Given the description of an element on the screen output the (x, y) to click on. 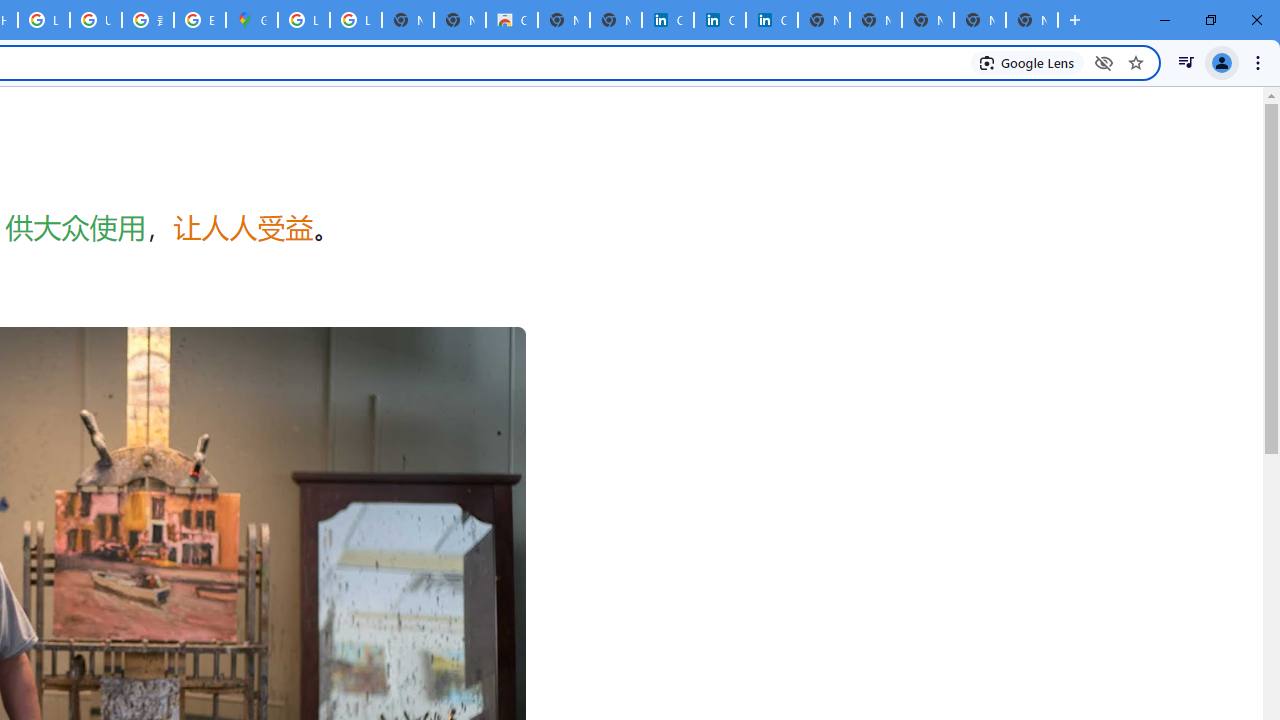
Cookie Policy | LinkedIn (719, 20)
Copyright Policy (771, 20)
Chrome Web Store (511, 20)
New Tab (1032, 20)
Explore new street-level details - Google Maps Help (200, 20)
Search with Google Lens (1027, 62)
Google Maps (251, 20)
